Given the description of an element on the screen output the (x, y) to click on. 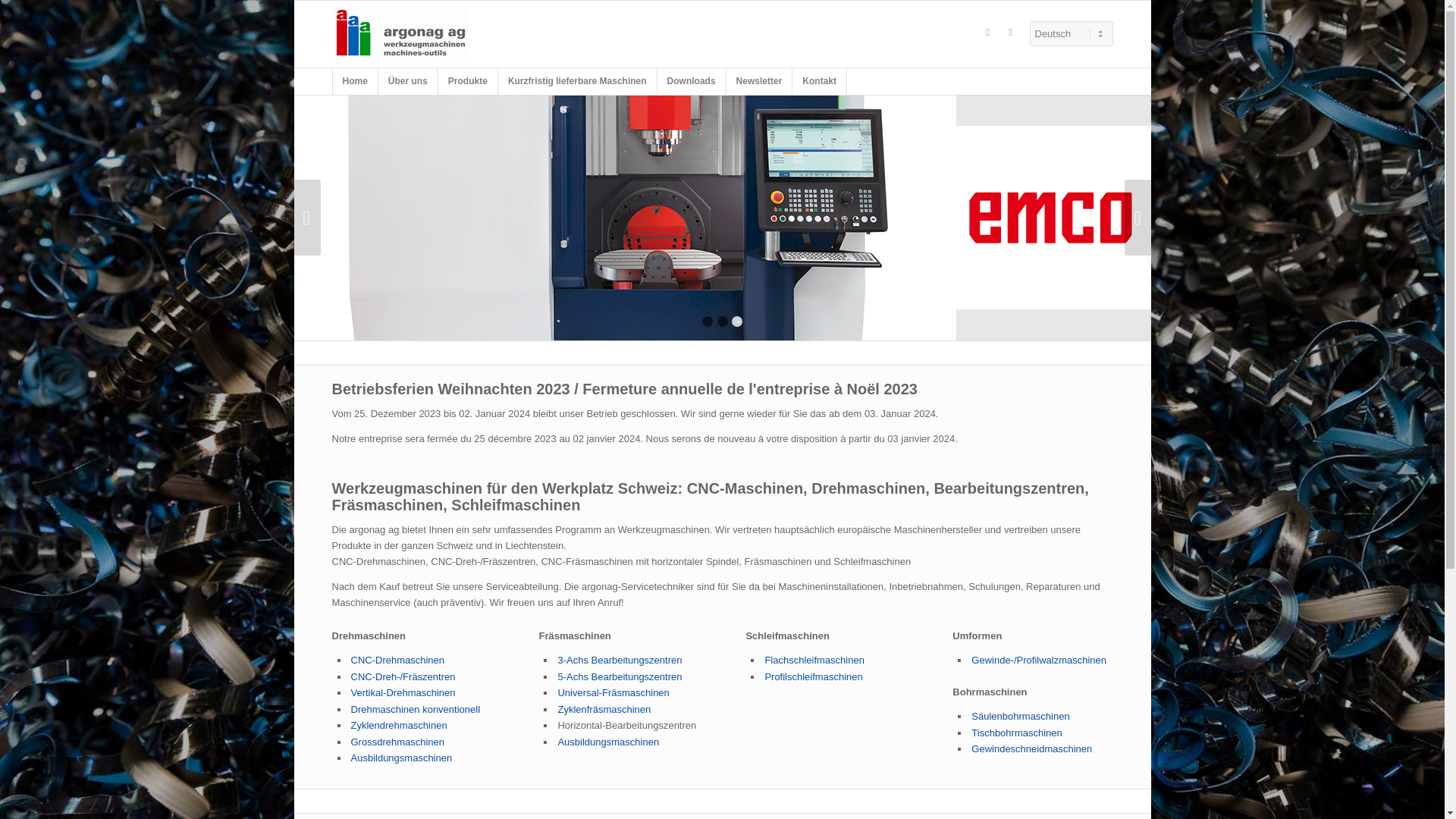
1 Element type: text (707, 321)
Kurzfristig lieferbare Maschinen Element type: text (577, 81)
Ausbildungsmaschinen Element type: text (400, 757)
Newsletter Element type: text (759, 81)
Kontakt Element type: text (819, 81)
Produkte Element type: text (468, 81)
Drehmaschinen konventionell Element type: text (415, 709)
Ausbildungsmaschinen Element type: text (607, 741)
3-Achs Bearbeitungszentren Element type: text (619, 659)
Tischbohrmaschinen Element type: text (1016, 732)
argonag ag Element type: hover (399, 32)
Grossdrehmaschinen Element type: text (397, 741)
Profilschleifmaschinen Element type: text (813, 676)
CNC-Drehmaschinen Element type: text (397, 659)
Flachschleifmaschinen Element type: text (814, 659)
2 Element type: text (722, 321)
Vertikal-Drehmaschinen Element type: text (402, 692)
Next Element type: text (1136, 217)
Zyklendrehmaschinen Element type: text (398, 725)
Facebook Element type: hover (987, 32)
Downloads Element type: text (691, 81)
Home Element type: text (355, 81)
3 Element type: text (736, 321)
Gewindeschneidmaschinen Element type: text (1031, 748)
Gewinde-/Profilwalzmaschinen Element type: text (1038, 659)
Previous Element type: text (307, 217)
5-Achs Bearbeitungszentren Element type: text (619, 676)
Mail Element type: hover (1010, 32)
